Given the description of an element on the screen output the (x, y) to click on. 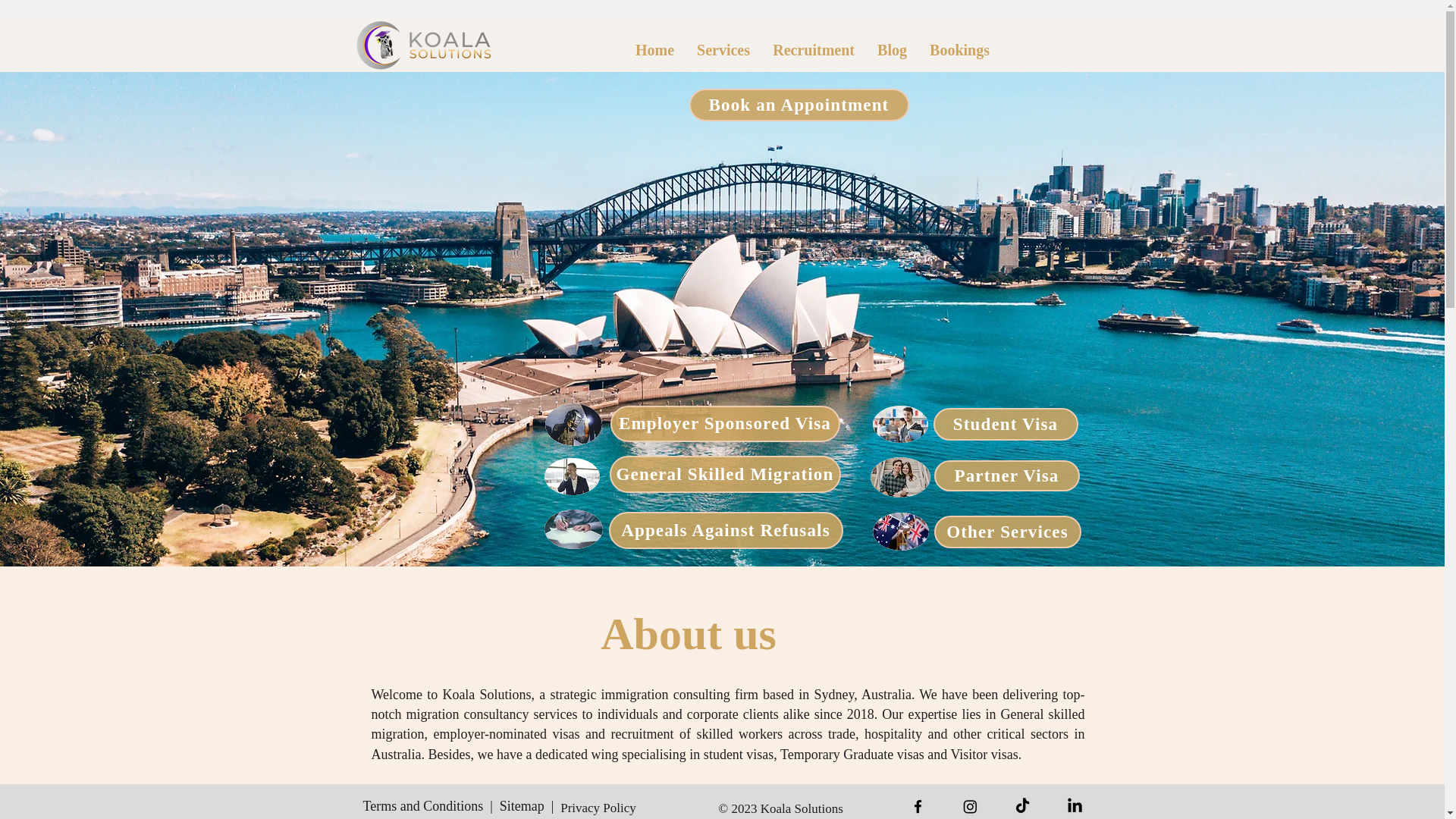
General Skilled Migration Element type: text (724, 473)
Other Services Element type: text (1007, 531)
Terms and Conditions  |  Element type: text (431, 805)
Sitemap  | Element type: text (526, 805)
Employer Sponsored Visa Element type: text (724, 423)
Privacy Policy Element type: text (598, 807)
Copy of Koala Solutions SPA Proposal_edi Element type: hover (424, 44)
Partner Visa Element type: text (1006, 475)
Student Visa Element type: text (1004, 423)
Home Element type: text (654, 50)
Book an Appointment Element type: text (798, 104)
Services Element type: text (723, 50)
Recruitment Element type: text (813, 50)
Bookings Element type: text (959, 50)
Blog Element type: text (892, 50)
Appeals Against Refusals Element type: text (725, 530)
